Given the description of an element on the screen output the (x, y) to click on. 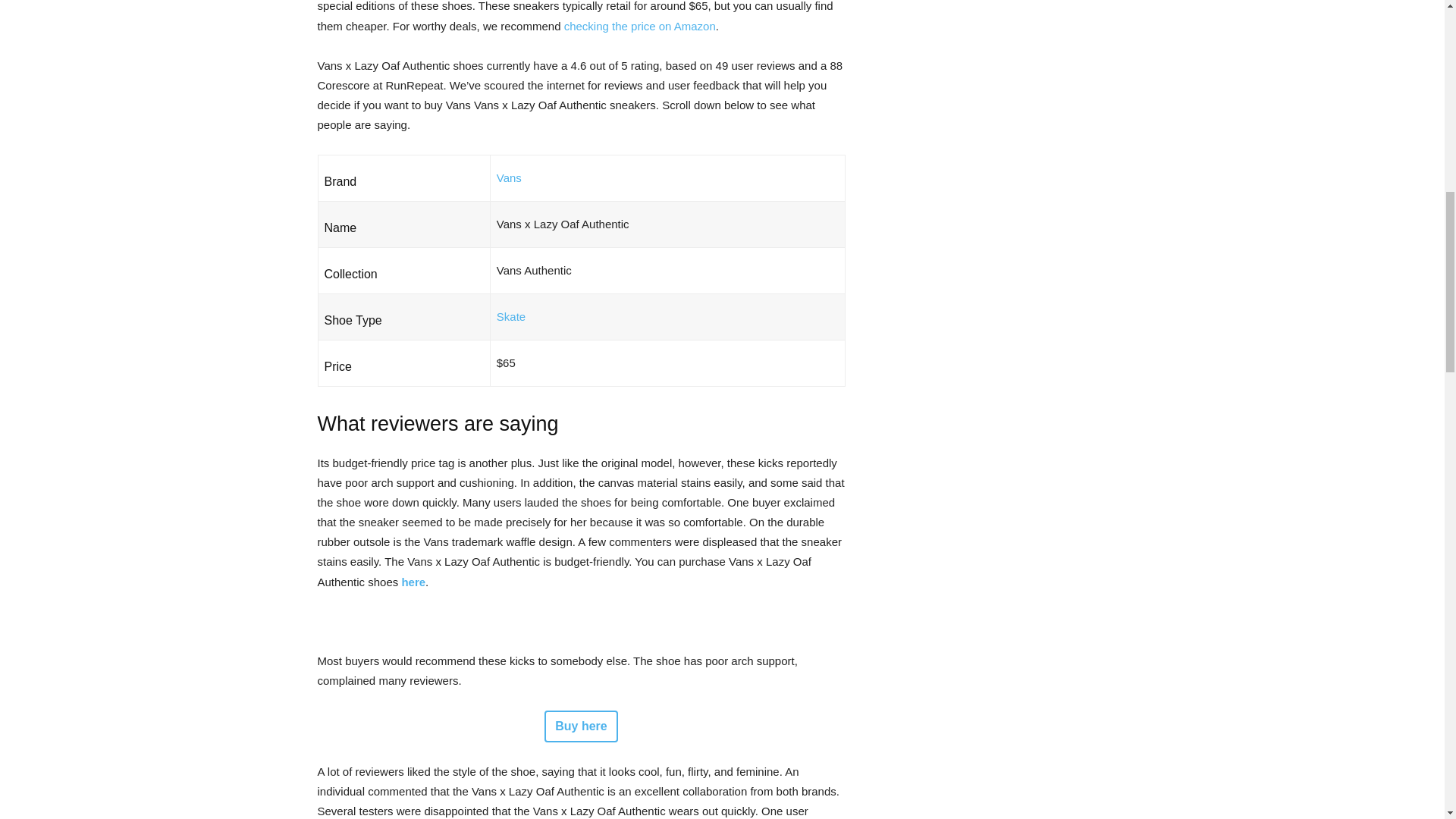
Best Skate shoes (510, 316)
buy Vans x Lazy Oaf Authentic (413, 581)
Best Vans shoes (508, 177)
